Given the description of an element on the screen output the (x, y) to click on. 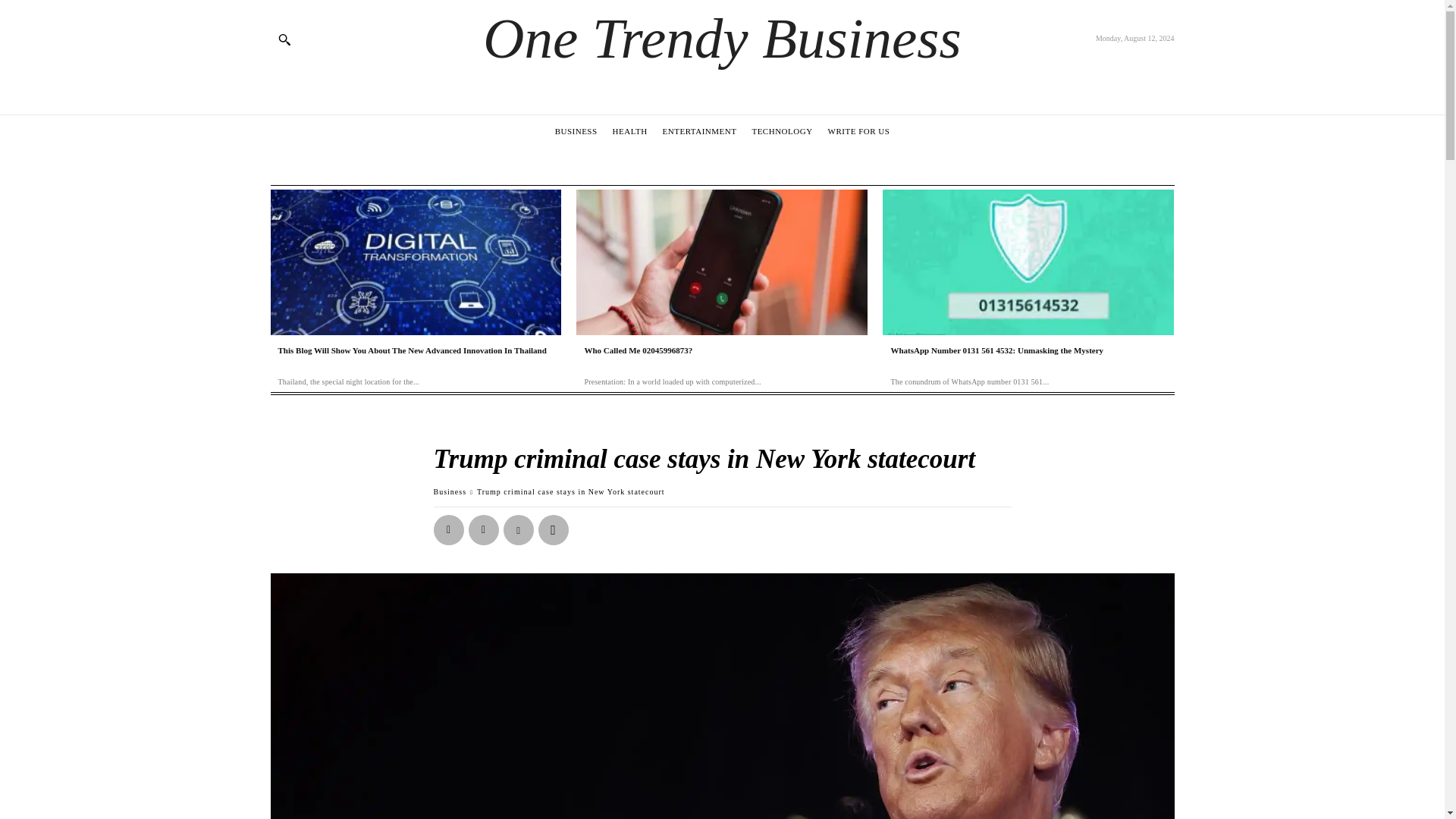
WhatsApp Number 0131 561 4532: Unmasking the Mystery (996, 349)
Facebook (448, 530)
WRITE FOR US (858, 131)
Who Called Me 02045996873? (721, 261)
ENTERTAINMENT (700, 131)
Business (450, 491)
Twitter (483, 530)
Who Called Me 02045996873? (638, 349)
WhatsApp Number 0131 561 4532: Unmasking the Mystery (1027, 261)
